Given the description of an element on the screen output the (x, y) to click on. 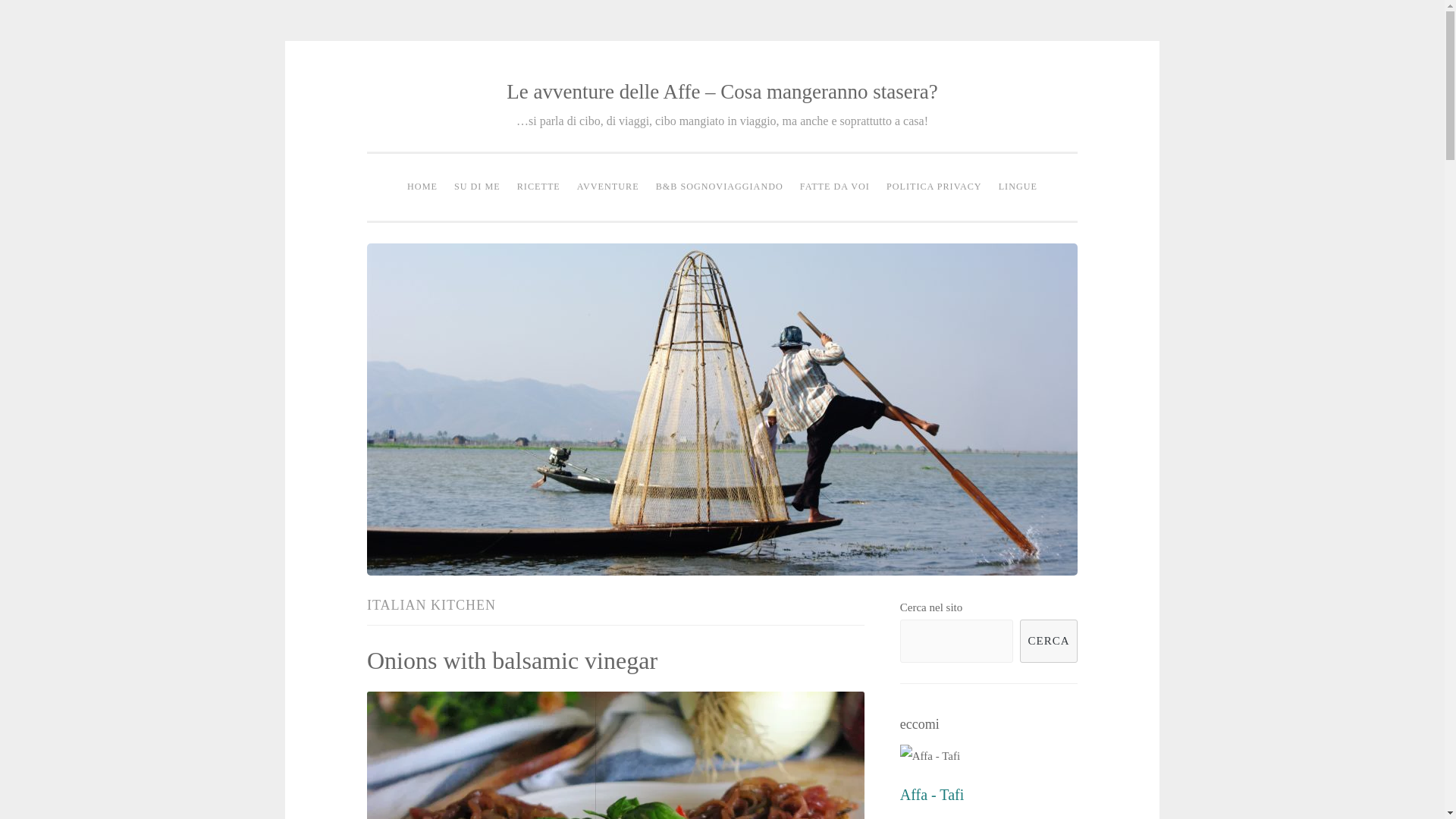
FATTE DA VOI (834, 186)
SU DI ME (476, 186)
HOME (422, 186)
AVVENTURE (608, 186)
POLITICA PRIVACY (933, 186)
RICETTE (539, 186)
